Given the description of an element on the screen output the (x, y) to click on. 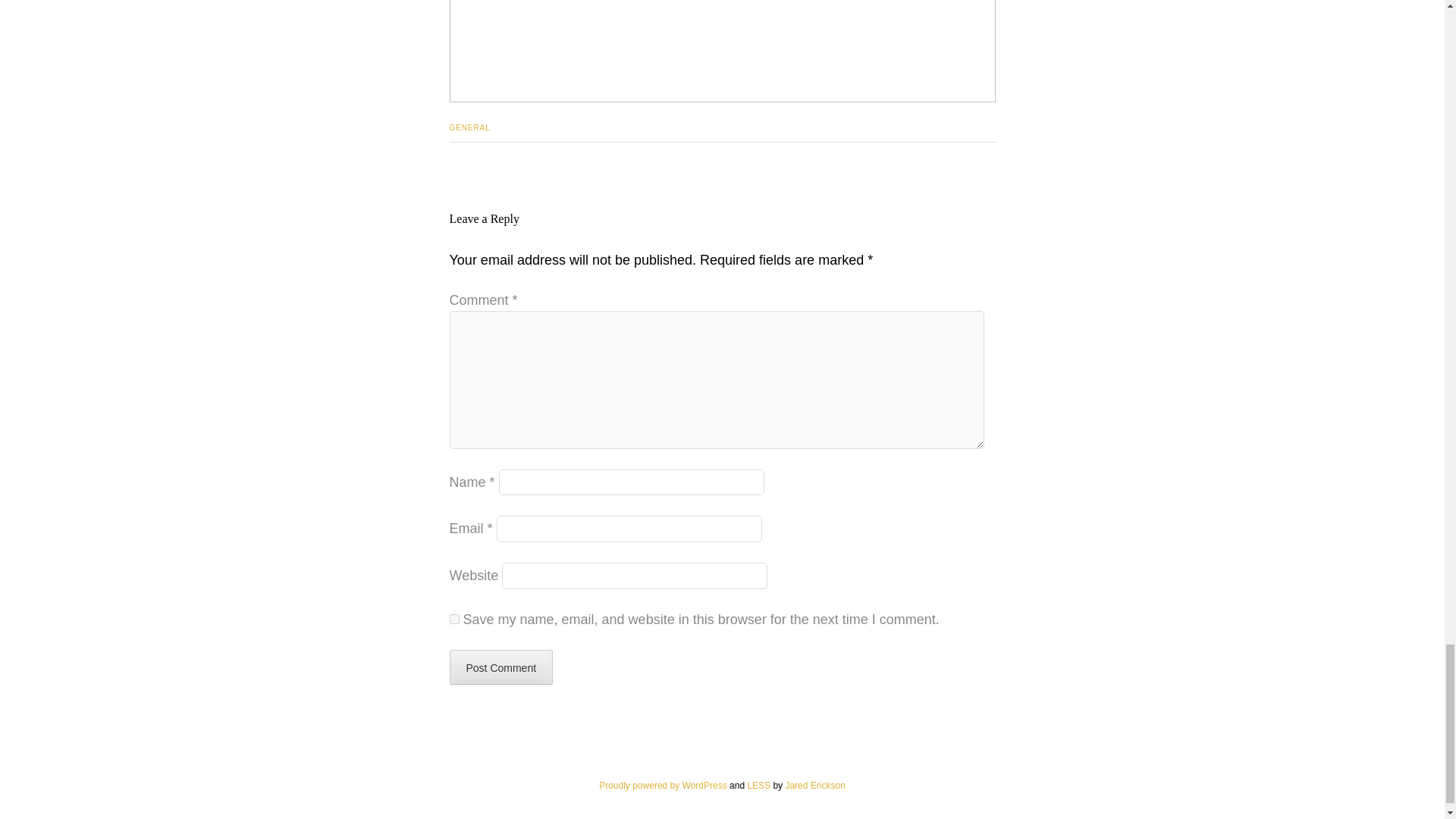
A Semantic Personal Publishing Platform (662, 785)
Jared Erickson (814, 785)
LESS (758, 785)
Post Comment (500, 667)
yes (453, 619)
Post Comment (500, 667)
Proudly powered by WordPress (662, 785)
GENERAL (468, 127)
